Given the description of an element on the screen output the (x, y) to click on. 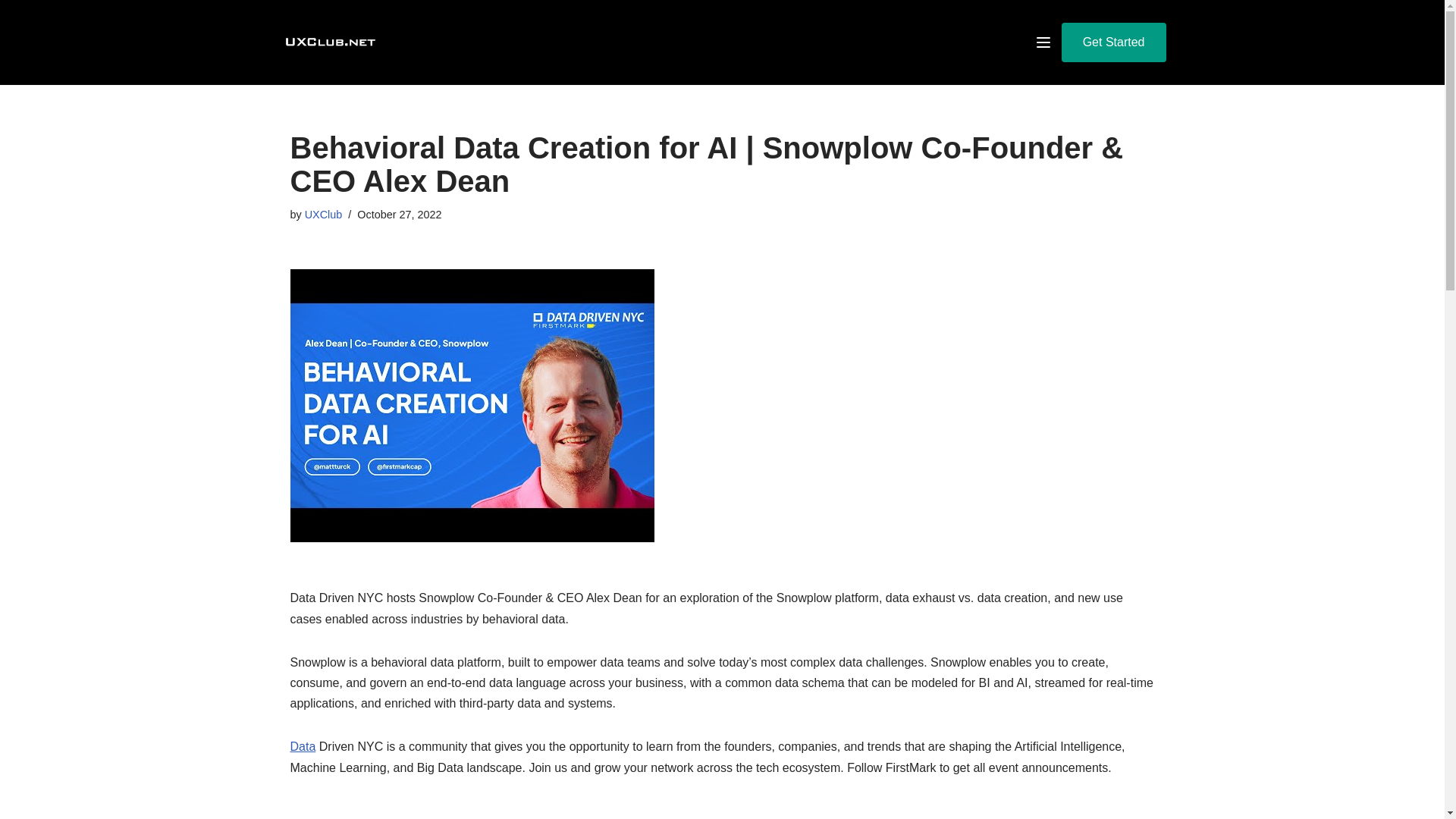
Data (302, 746)
Get Started (1113, 42)
UXClub (323, 214)
Posts by UXClub (323, 214)
